Given the description of an element on the screen output the (x, y) to click on. 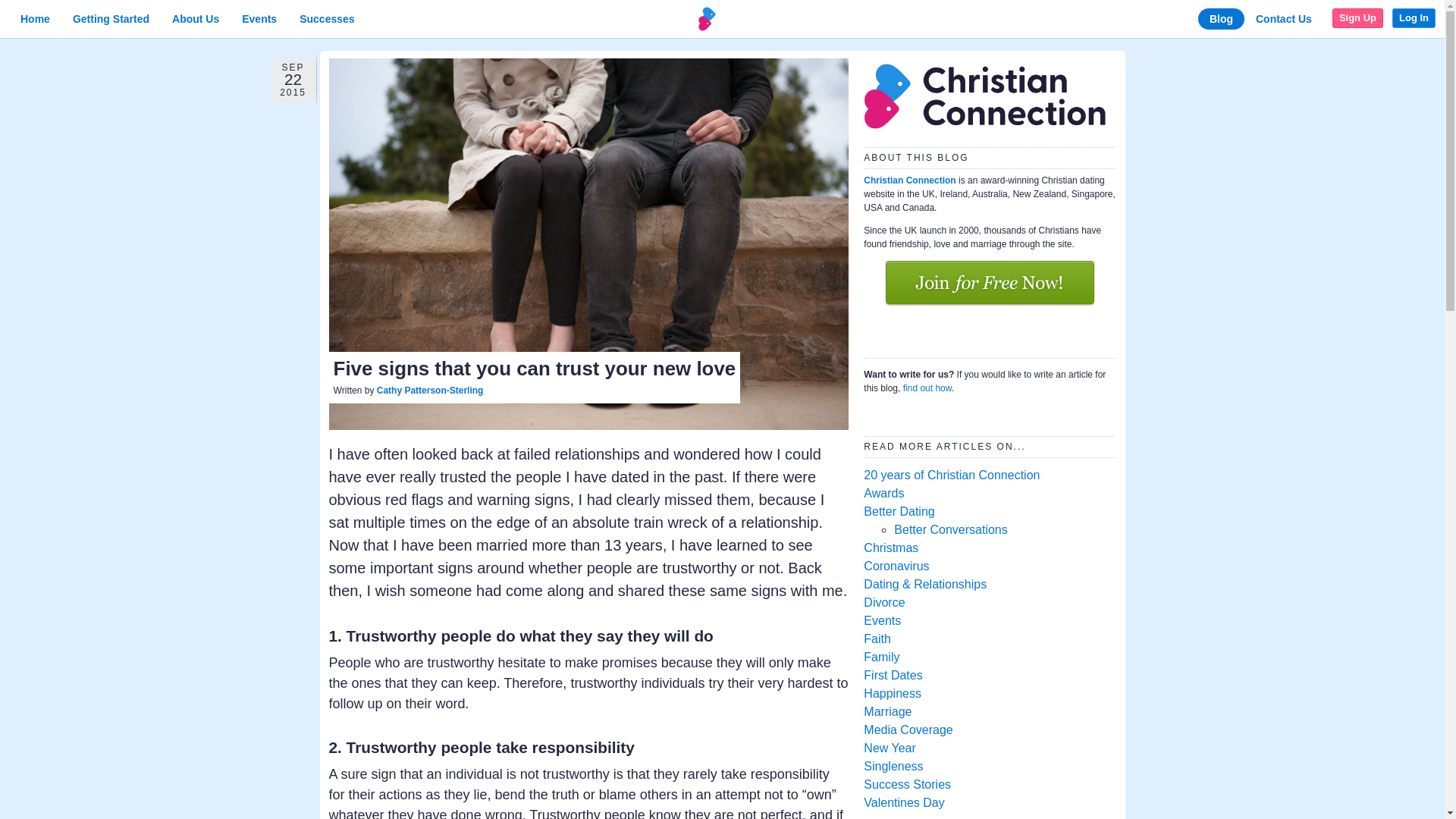
Happiness (892, 693)
Marriage (887, 711)
Sign Up (1357, 17)
20 years of Christian Connection (951, 474)
Getting Started (110, 18)
View all articles by Cathy Patterson-Sterling (430, 389)
Blog (1221, 18)
Events (259, 18)
Coronavirus (895, 565)
Awards (883, 492)
